Given the description of an element on the screen output the (x, y) to click on. 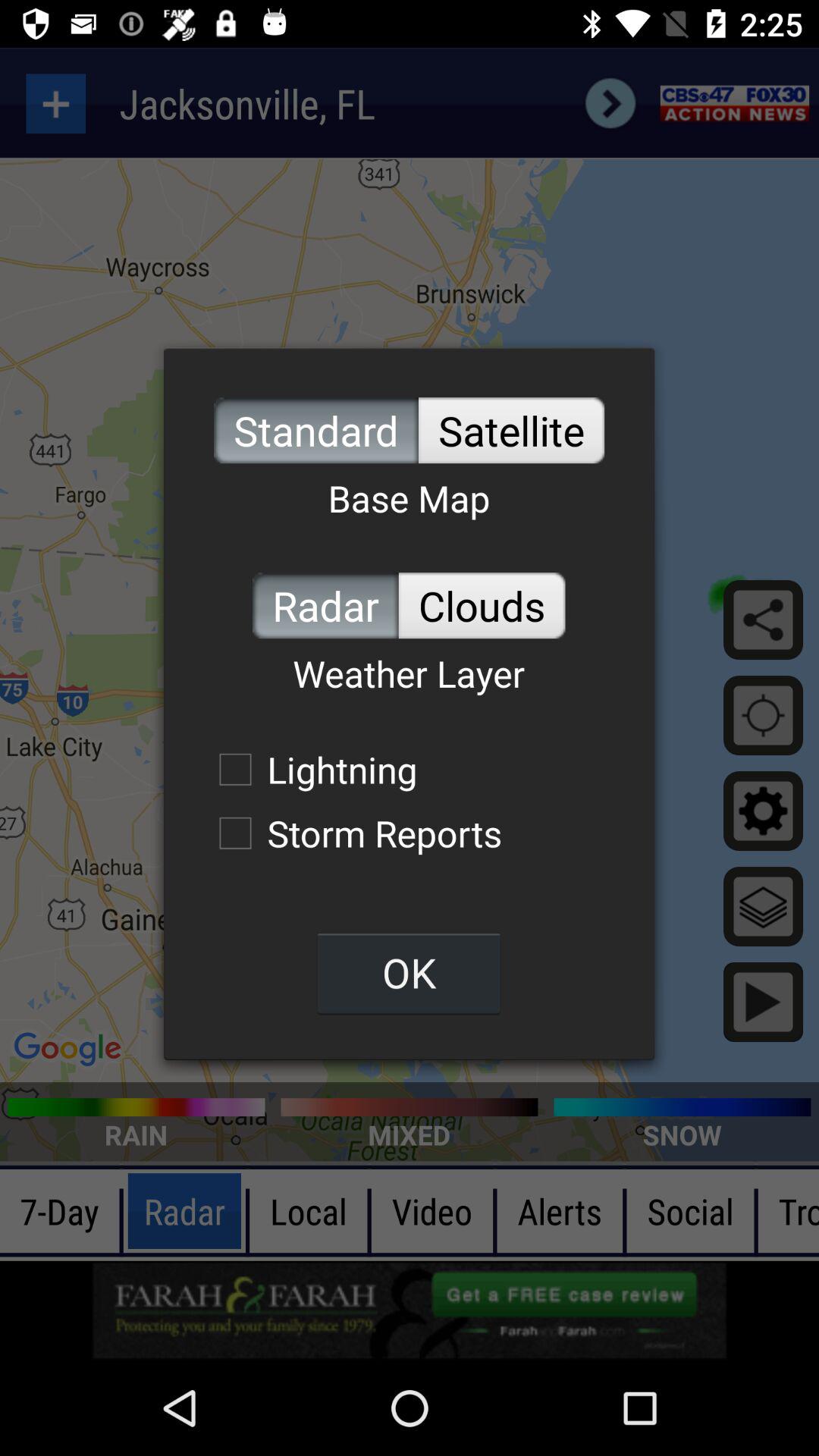
launch icon below the base map (325, 605)
